Given the description of an element on the screen output the (x, y) to click on. 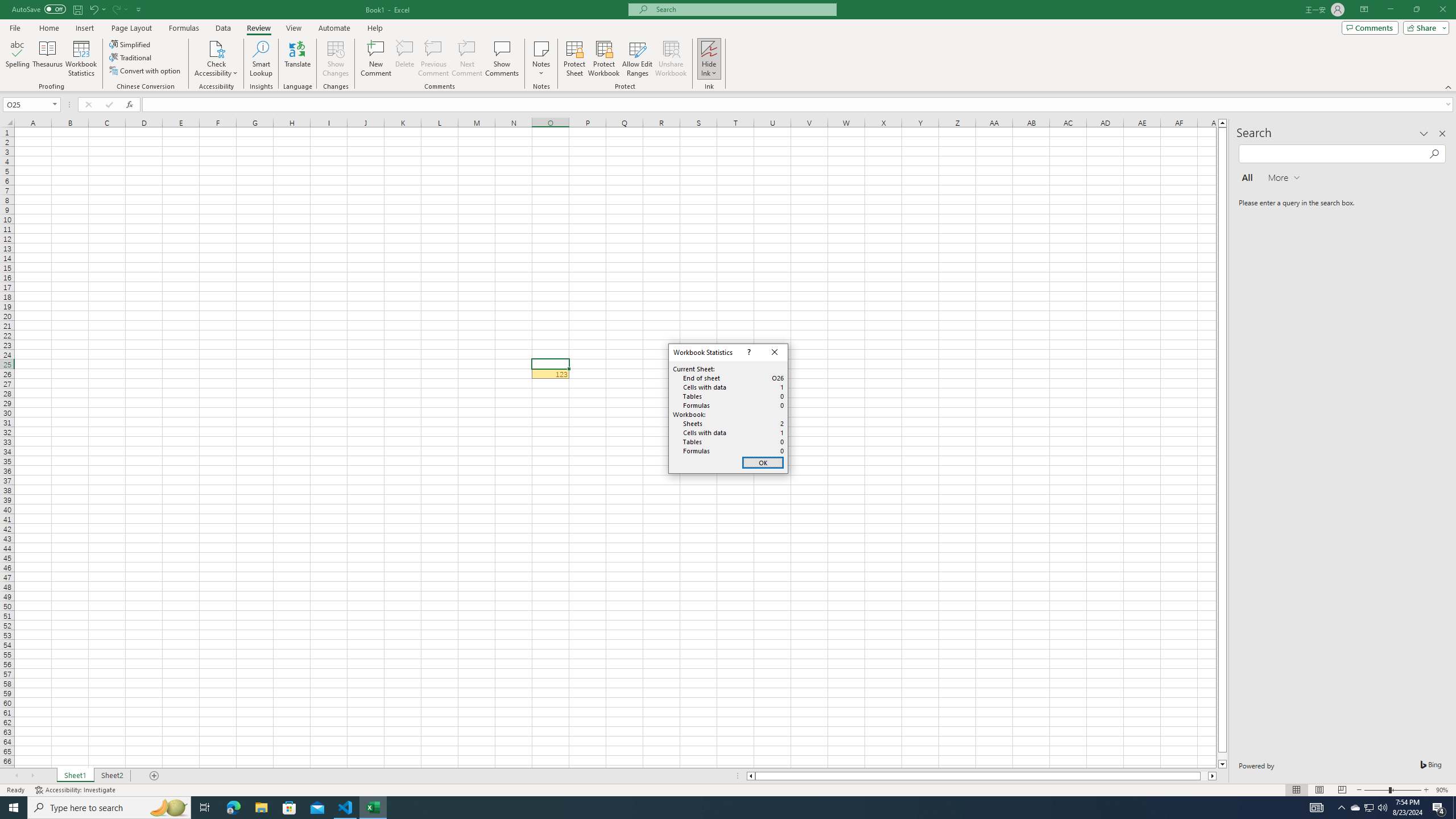
Share (1423, 27)
Show desktop (1454, 807)
Unshare Workbook (670, 58)
Name Box (30, 104)
Action Center, 4 new notifications (1439, 807)
Delete (404, 58)
Redo (1355, 807)
AutomationID: 4105 (115, 9)
Accessibility Checker Accessibility: Investigate (1316, 807)
Workbook Statistics (76, 790)
Scroll Right (81, 58)
Protect Sheet... (32, 775)
Microsoft Store (574, 58)
